Given the description of an element on the screen output the (x, y) to click on. 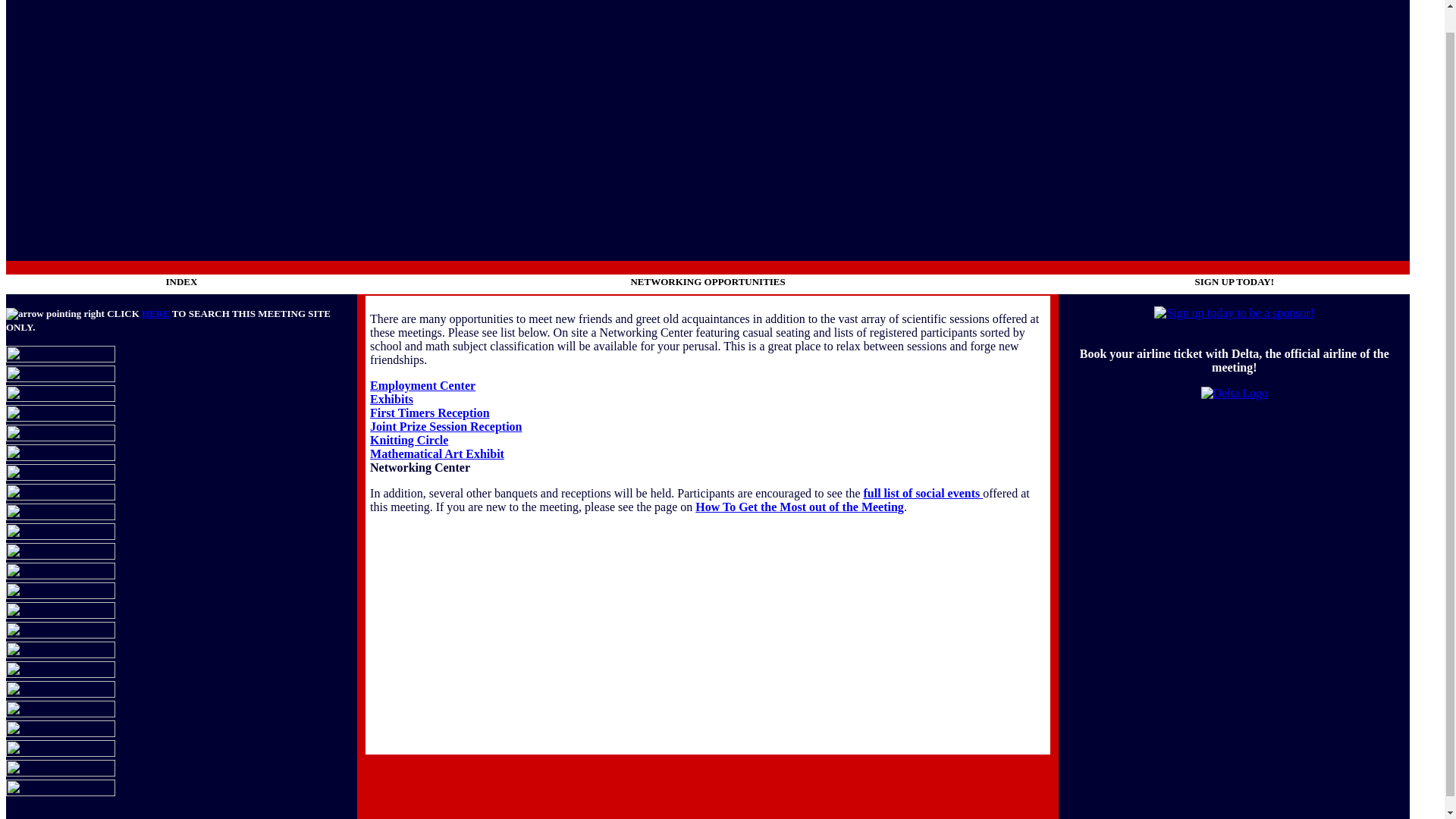
full list of social events (922, 492)
Mathematical Art Exhibit (436, 453)
Employment Center (422, 385)
How To Get the Most out of the Meeting (799, 506)
Knitting Circle (408, 440)
Exhibits (391, 399)
First Timers Reception (429, 412)
HERE (155, 313)
Joint Prize Session Reception (445, 426)
